Given the description of an element on the screen output the (x, y) to click on. 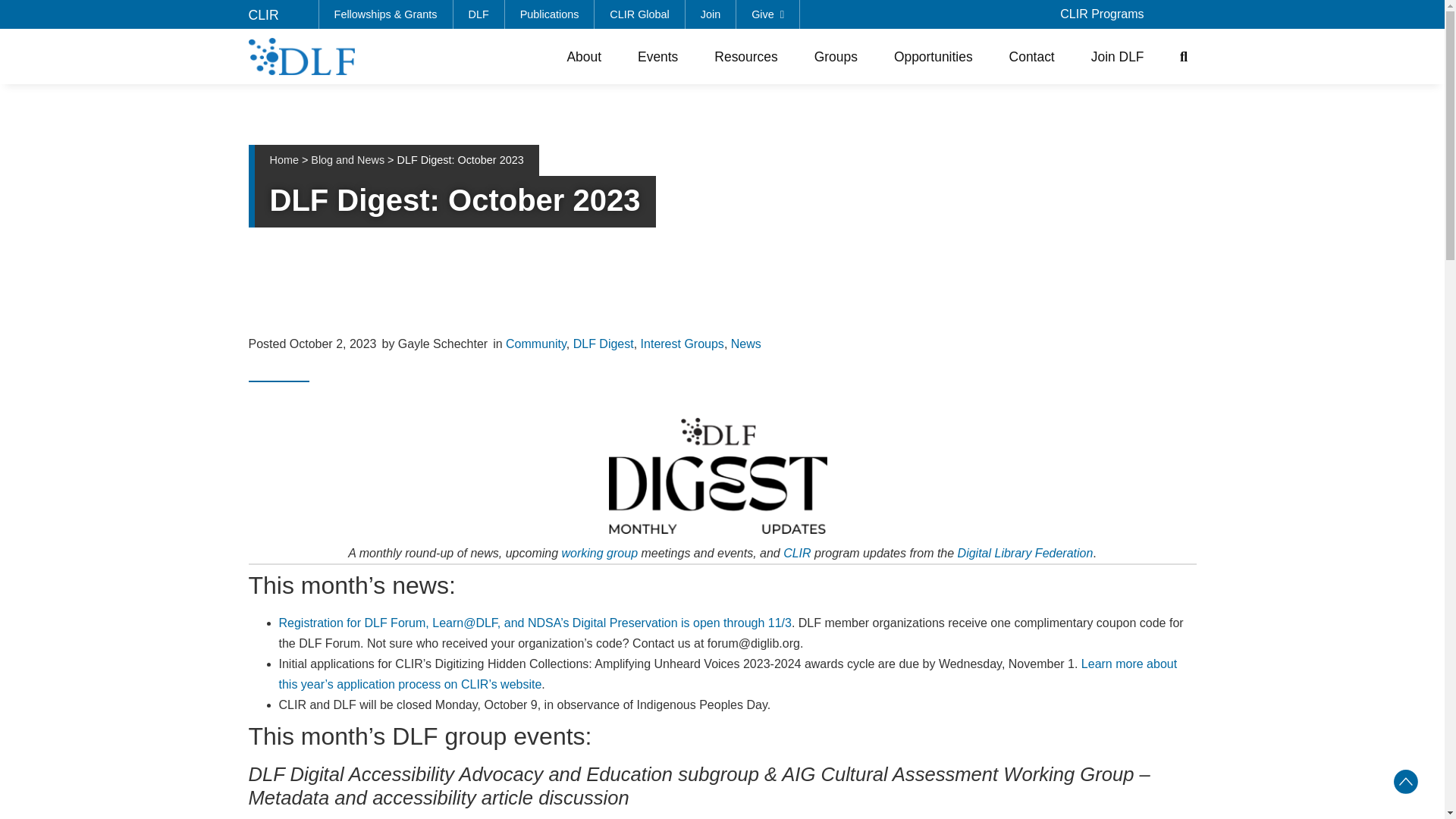
Give (767, 14)
CLIR Global (639, 14)
About (583, 56)
DLF (478, 14)
Publications (550, 14)
Resources (745, 56)
CLIR Programs (1101, 13)
Events (657, 56)
Join (710, 14)
CLIR (263, 15)
